Given the description of an element on the screen output the (x, y) to click on. 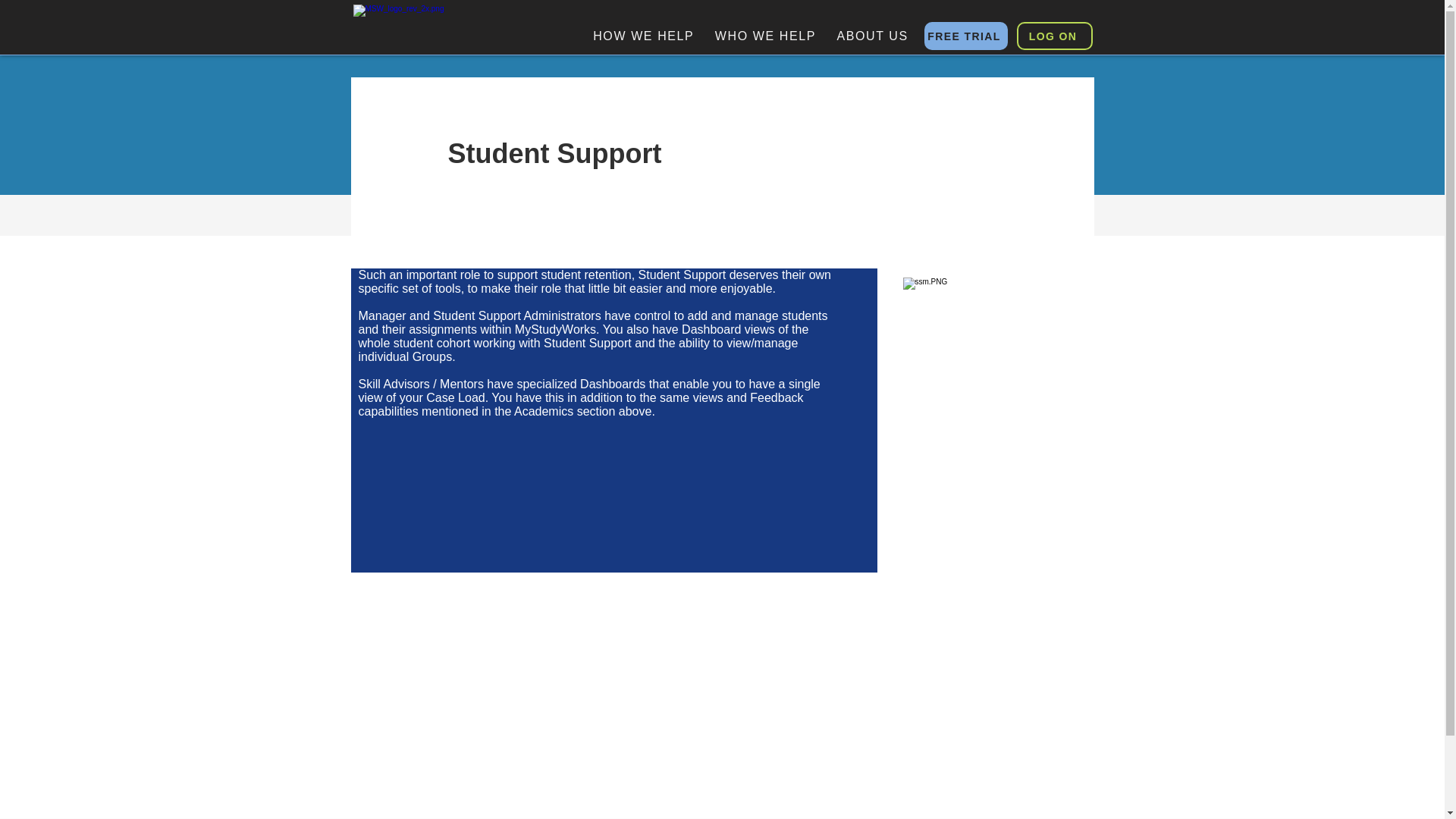
LOG ON (1054, 35)
FREE TRIAL (965, 35)
ABOUT US (872, 36)
